Given the description of an element on the screen output the (x, y) to click on. 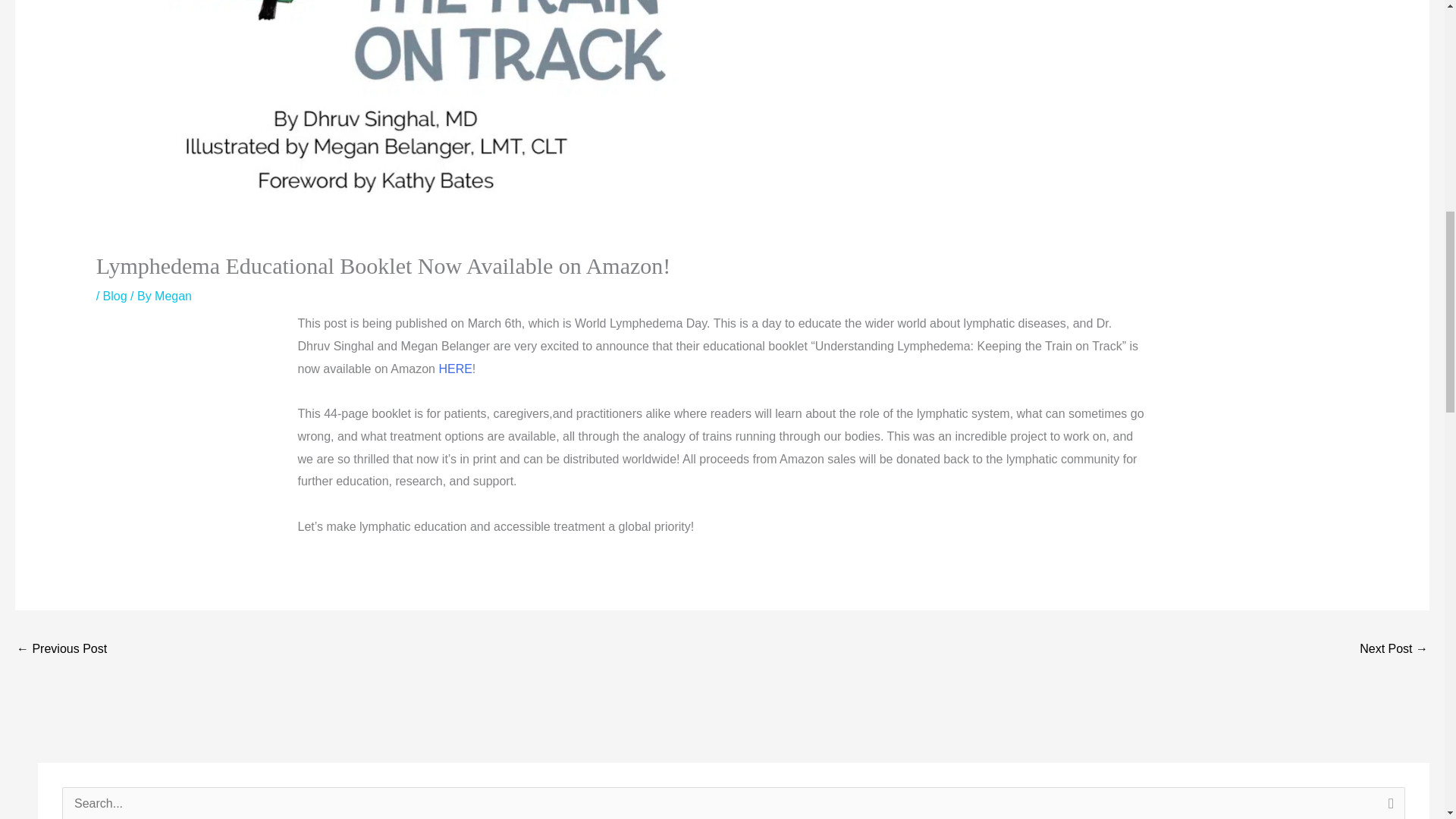
Search (1388, 803)
How Does Lipedema Become a Fluid Problem? (1393, 650)
Lipedema: The Chronic Disease That's NOT Obesity (61, 650)
Search (1388, 803)
View all posts by Megan (173, 295)
